Given the description of an element on the screen output the (x, y) to click on. 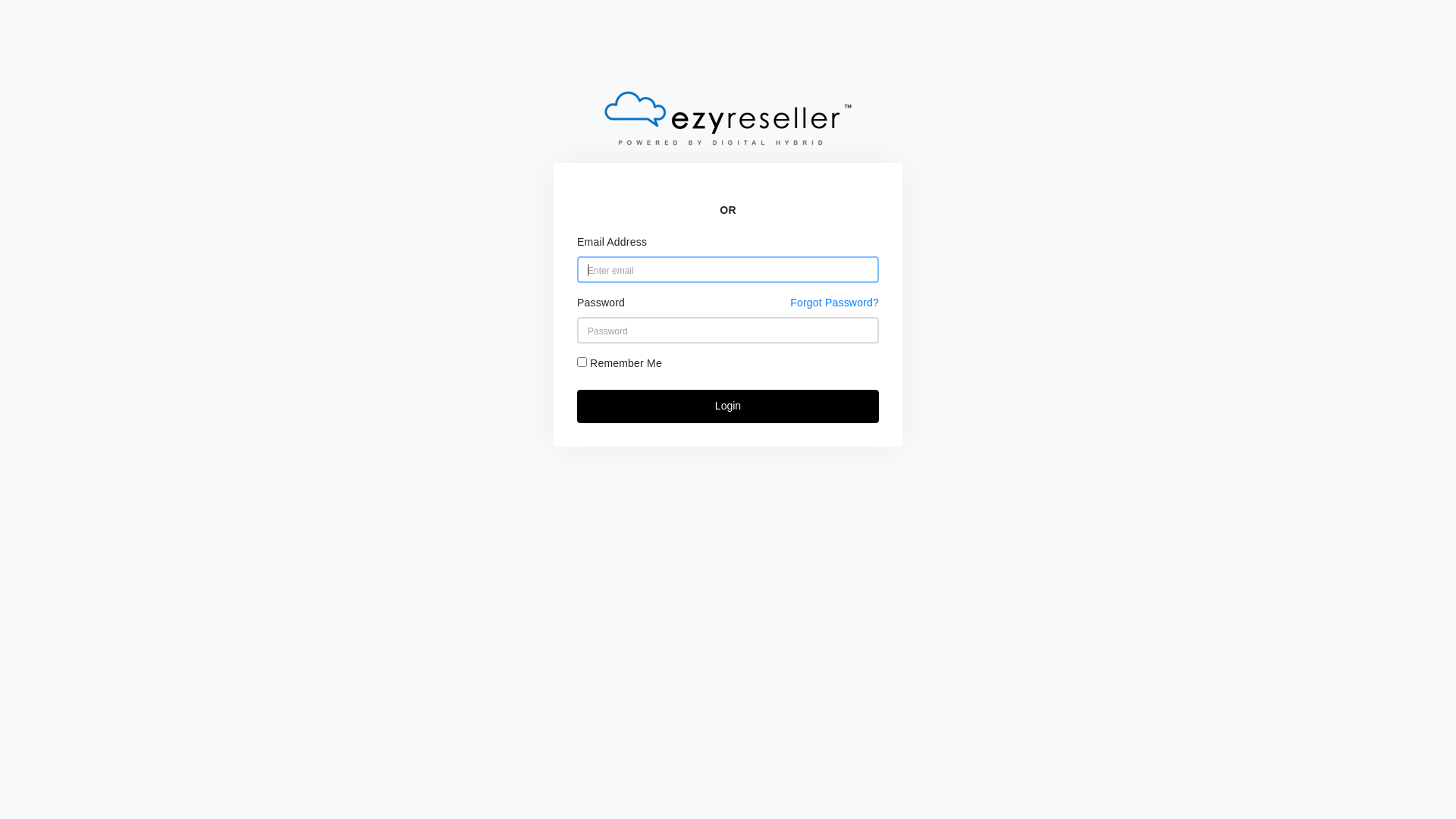
Login Element type: text (727, 406)
Forgot Password? Element type: text (834, 302)
